Given the description of an element on the screen output the (x, y) to click on. 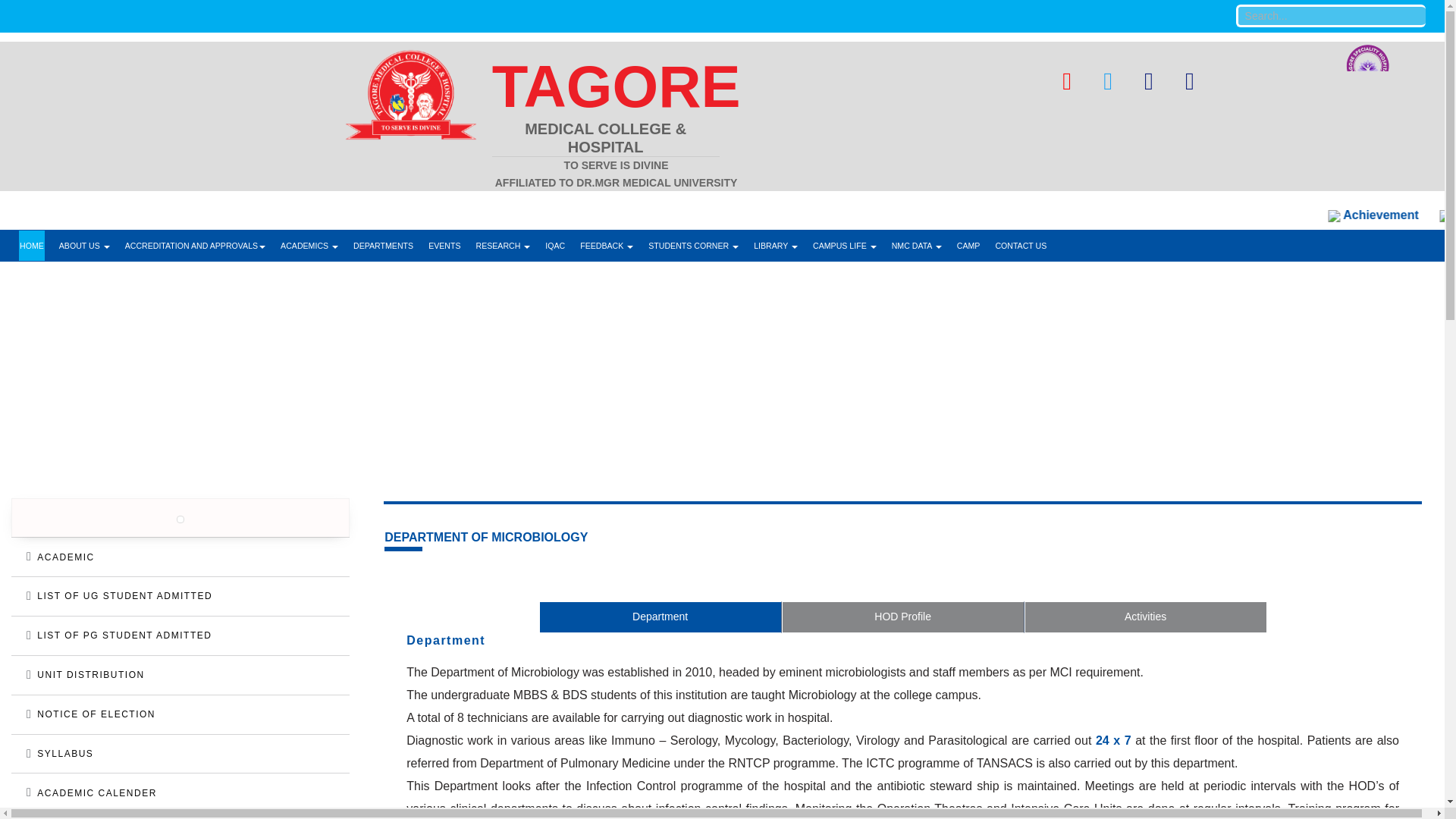
Academics (309, 245)
ACADEMICS (309, 245)
Tagore Medical College Hospital (615, 114)
LMS (1095, 112)
Govt.Approval (194, 245)
ABOUT US (84, 245)
ACCREDITATION AND APPROVALS (194, 245)
Alumni (1095, 143)
